Given the description of an element on the screen output the (x, y) to click on. 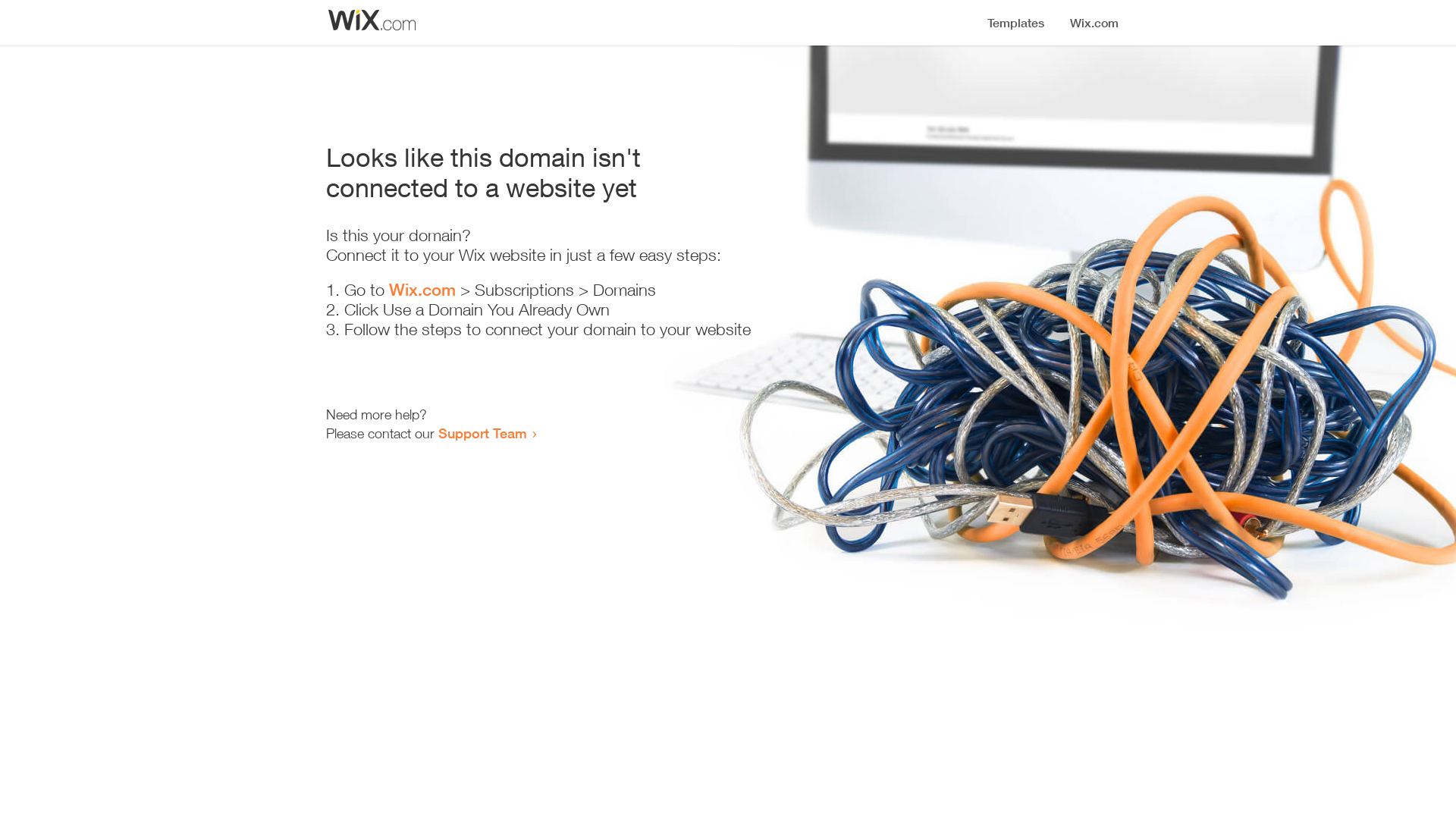
Support Team Element type: text (482, 432)
Wix.com Element type: text (422, 289)
